Given the description of an element on the screen output the (x, y) to click on. 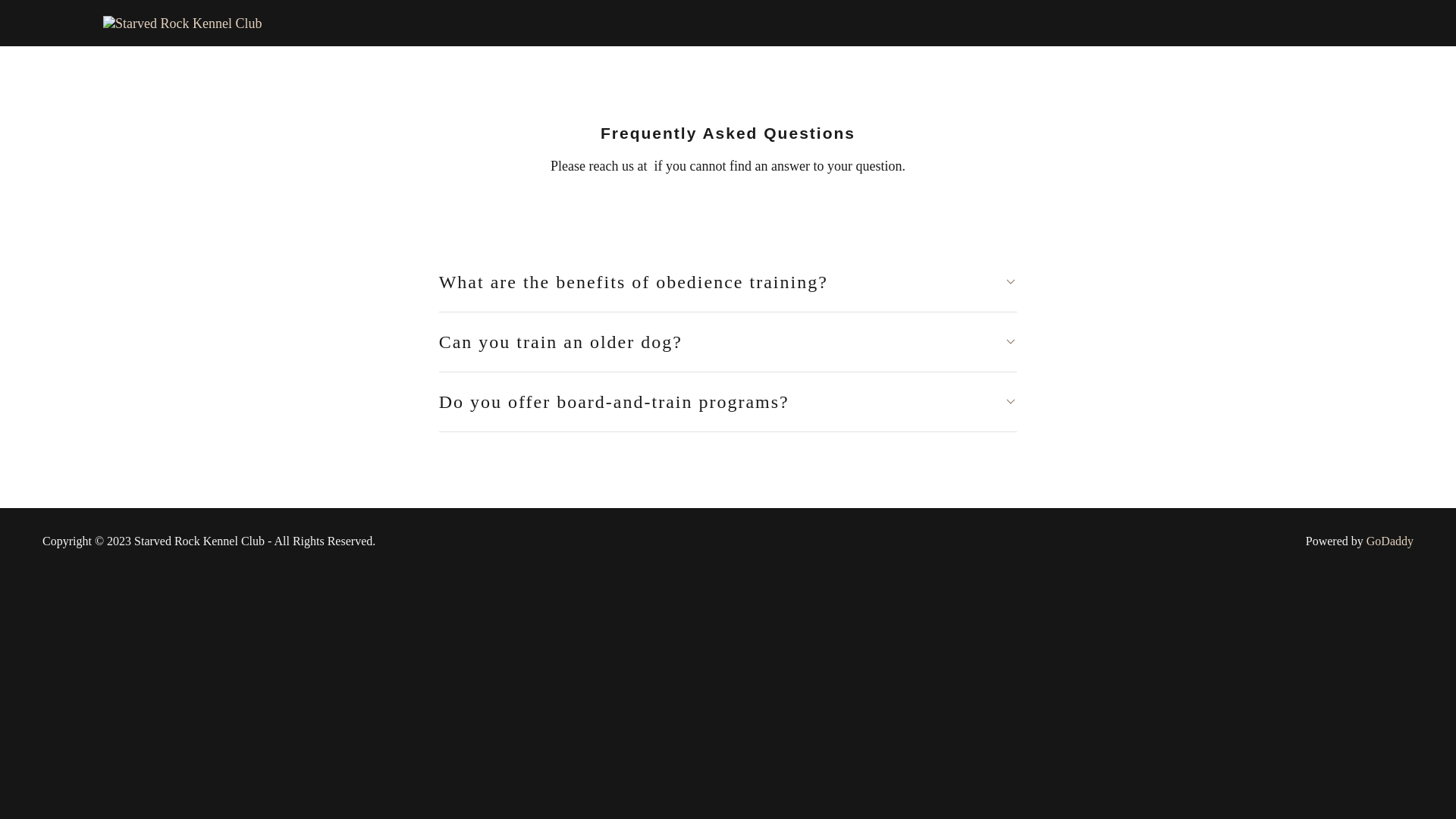
GoDaddy (1390, 540)
Starved Rock Kennel Club (182, 21)
Can you train an older dog? (728, 341)
Do you offer board-and-train programs? (728, 401)
What are the benefits of obedience training? (728, 281)
